Given the description of an element on the screen output the (x, y) to click on. 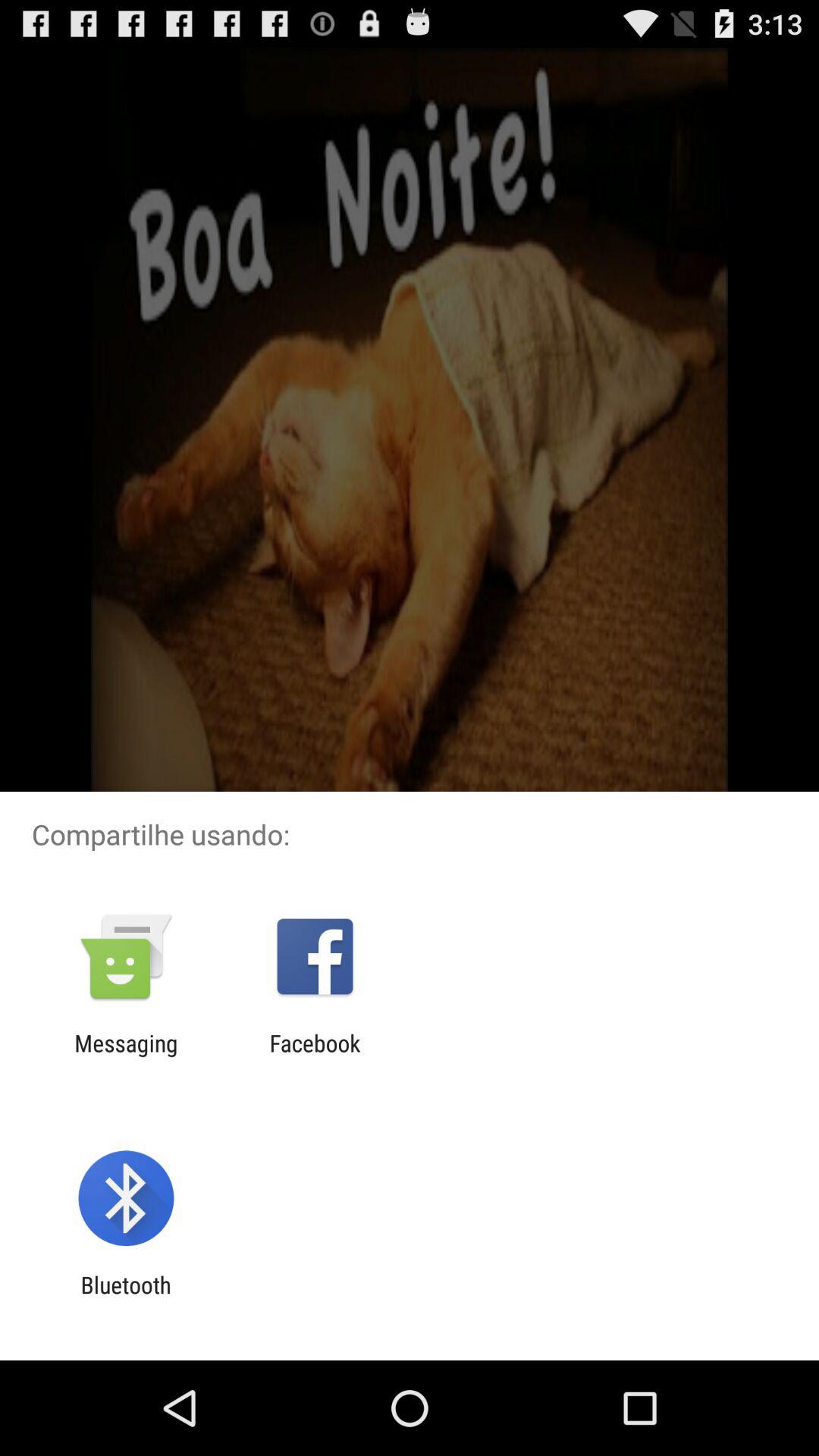
press icon to the right of messaging app (314, 1056)
